Given the description of an element on the screen output the (x, y) to click on. 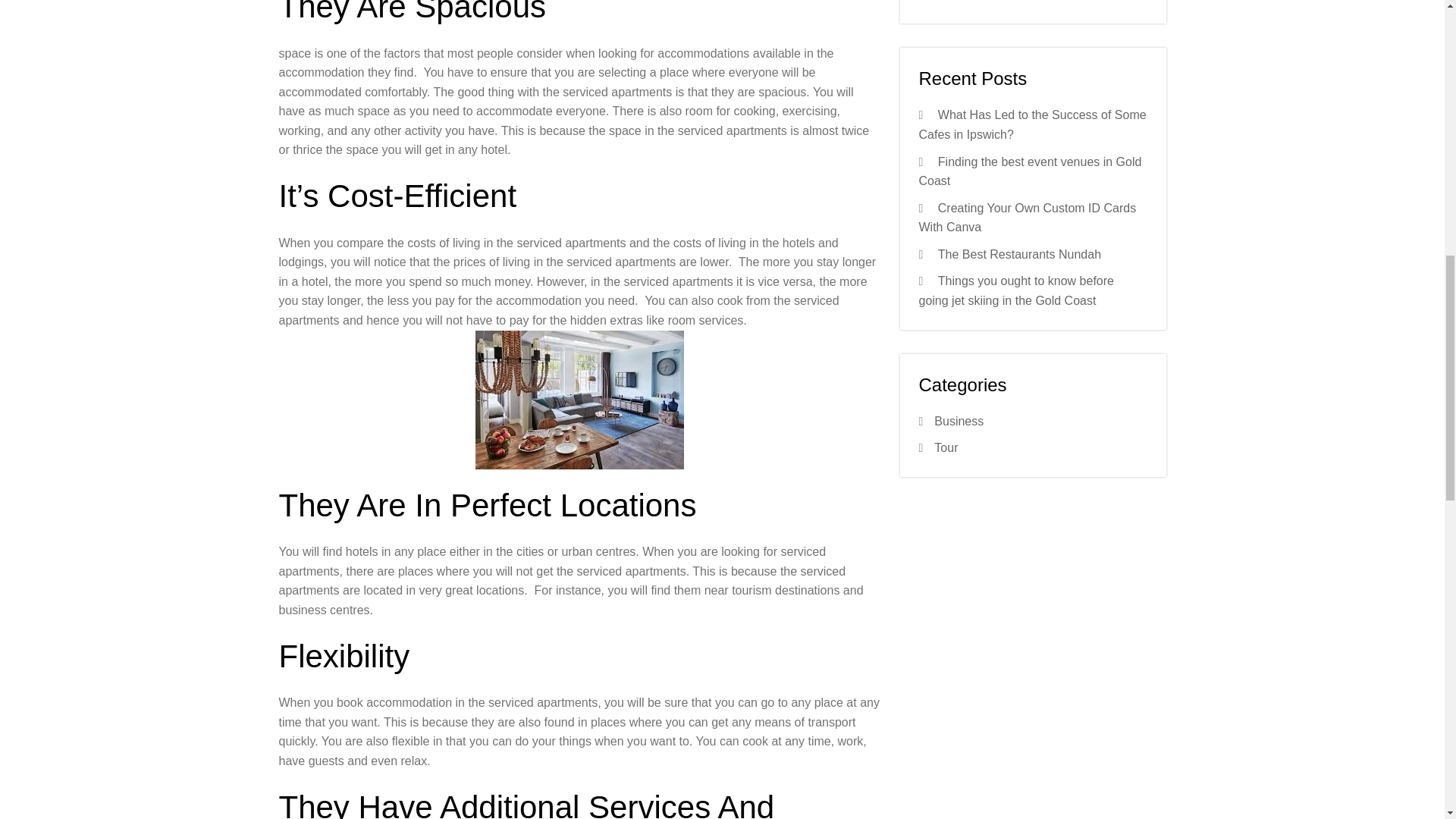
Tour (946, 447)
Finding the best event venues in Gold Coast (1029, 171)
What Has Led to the Success of Some Cafes in Ipswich? (1032, 124)
Business (959, 420)
The Best Restaurants Nundah (1018, 254)
Creating Your Own Custom ID Cards With Canva (1027, 217)
